Given the description of an element on the screen output the (x, y) to click on. 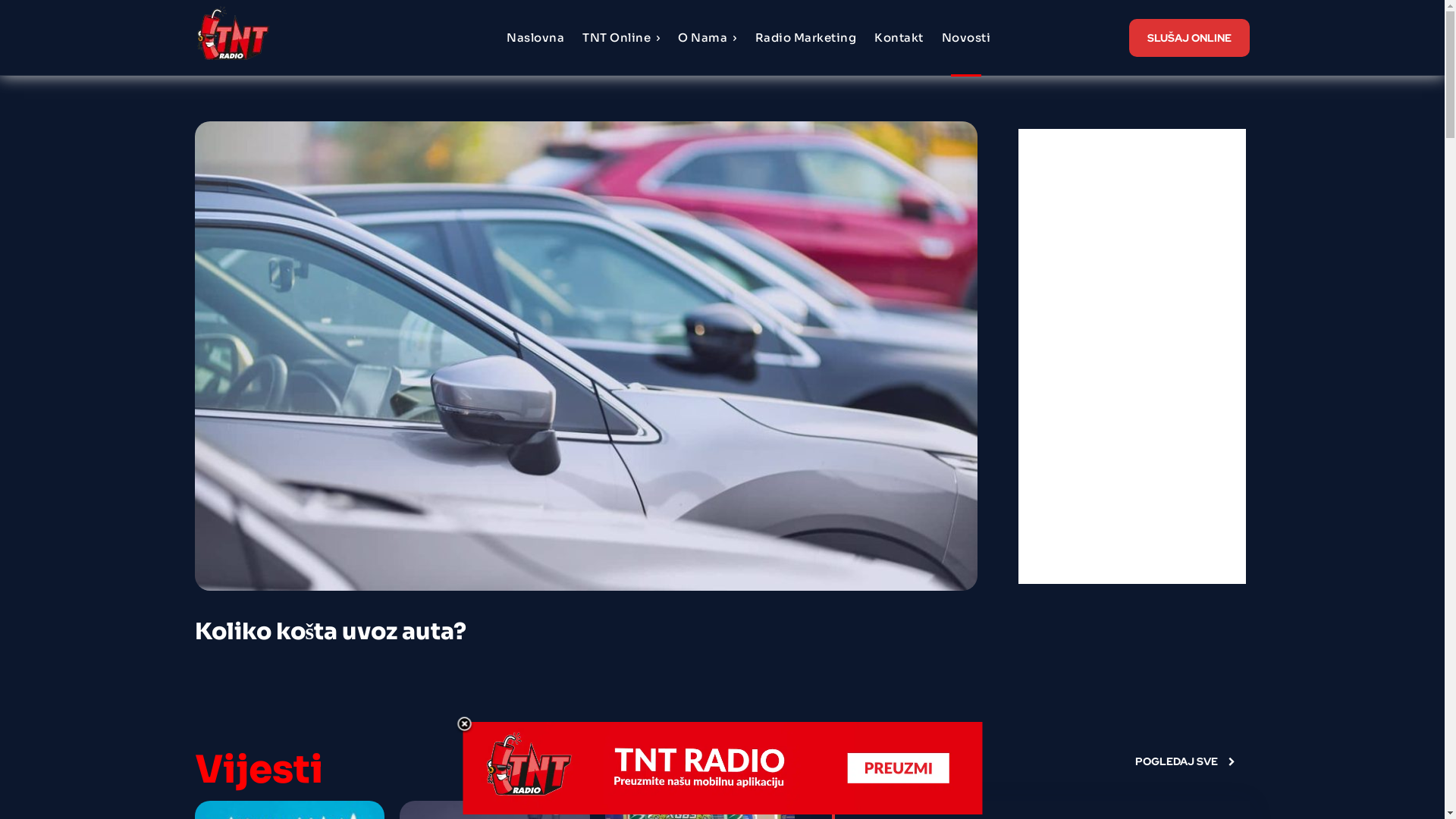
POGLEDAJ SVE Element type: text (1184, 761)
Kontakt Element type: text (898, 37)
Novosti Element type: text (966, 37)
Advertisement Element type: hover (1131, 355)
TNT Online Element type: text (621, 37)
Radio Marketing Element type: text (805, 37)
O Nama Element type: text (707, 37)
Naslovna Element type: text (535, 37)
